Given the description of an element on the screen output the (x, y) to click on. 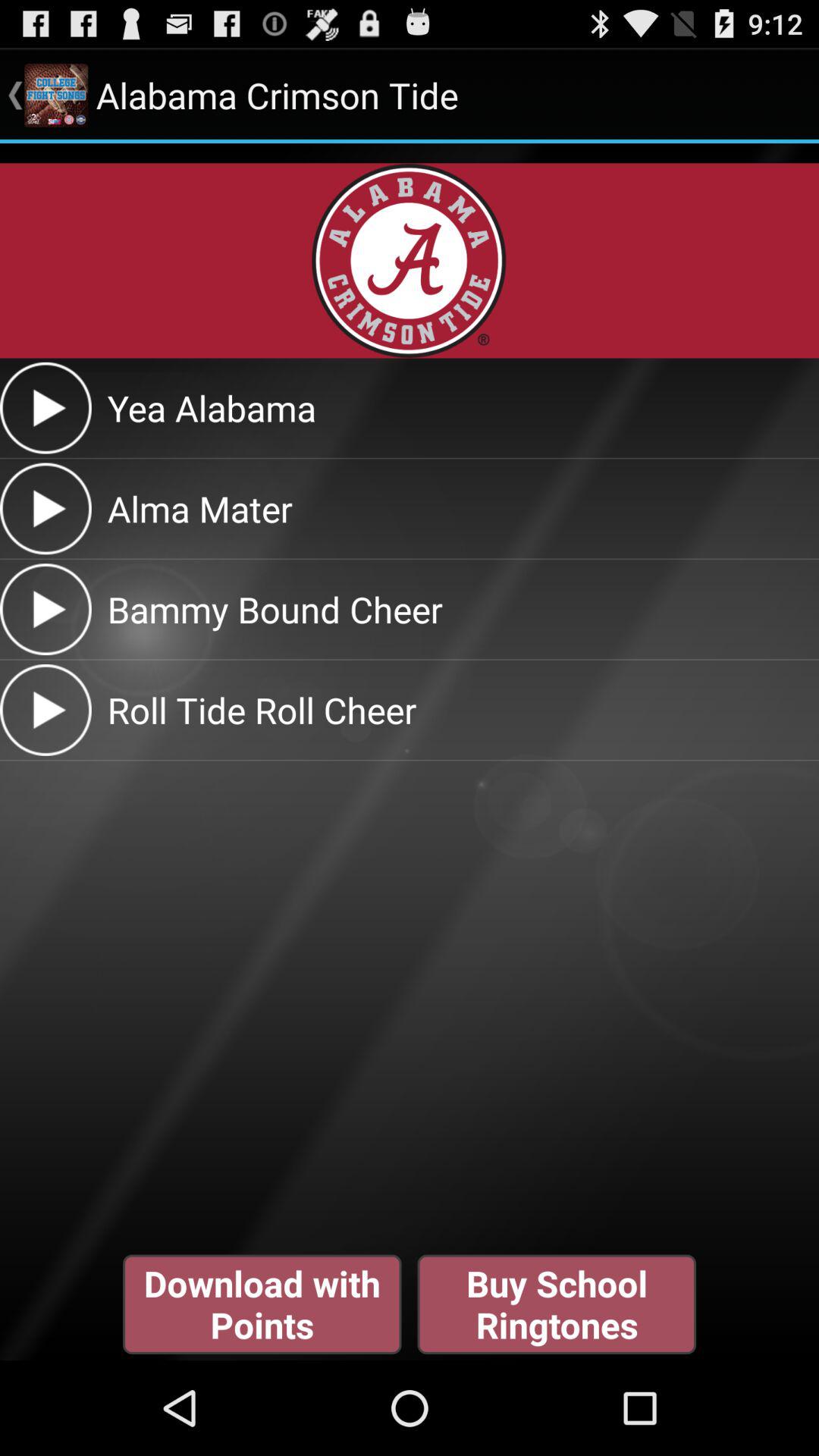
go to play box (45, 407)
